Given the description of an element on the screen output the (x, y) to click on. 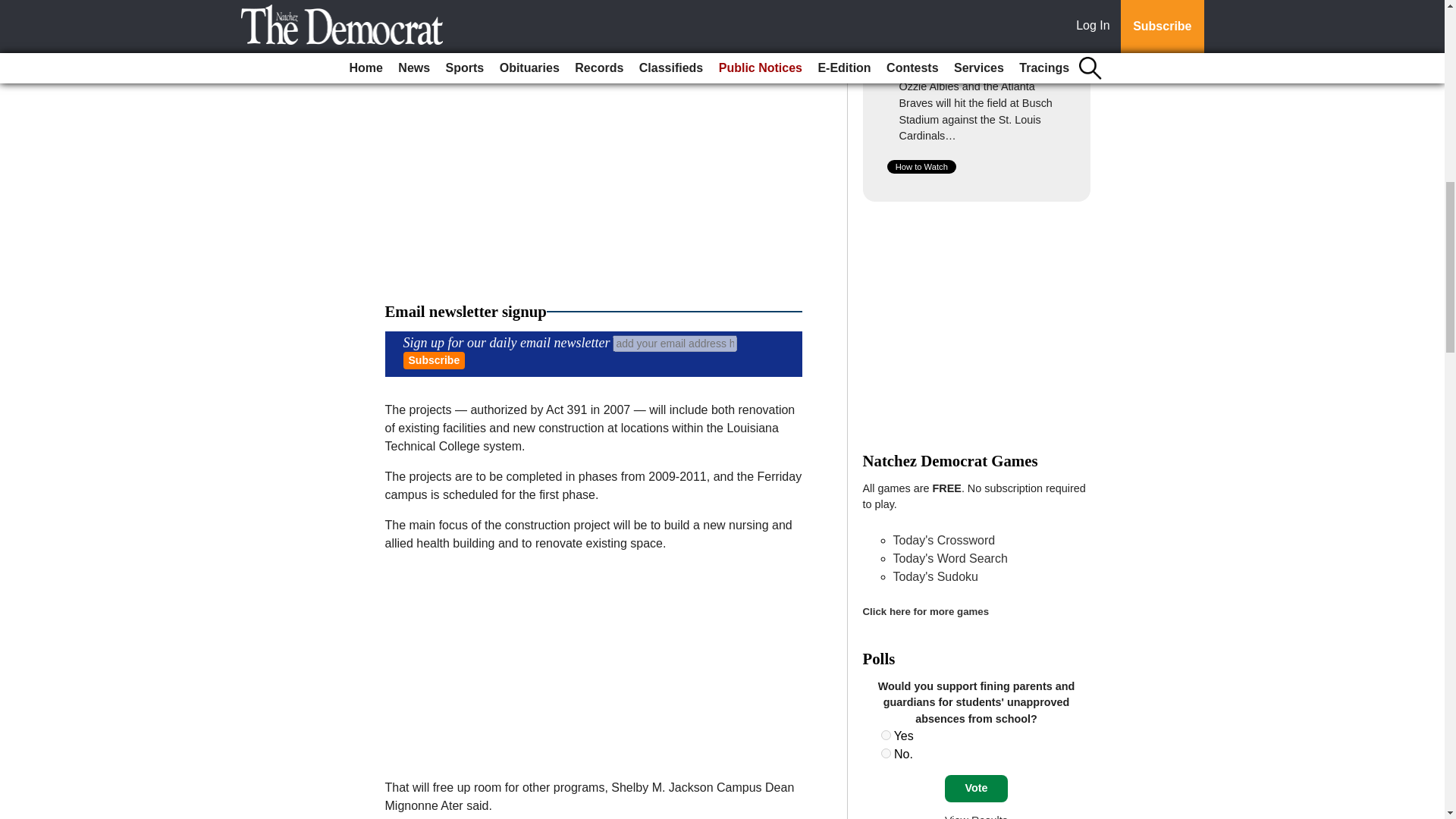
Subscribe (434, 360)
Subscribe (434, 360)
   Vote    (975, 788)
View Results Of This Poll (975, 816)
22421 (885, 735)
22422 (885, 753)
